Given the description of an element on the screen output the (x, y) to click on. 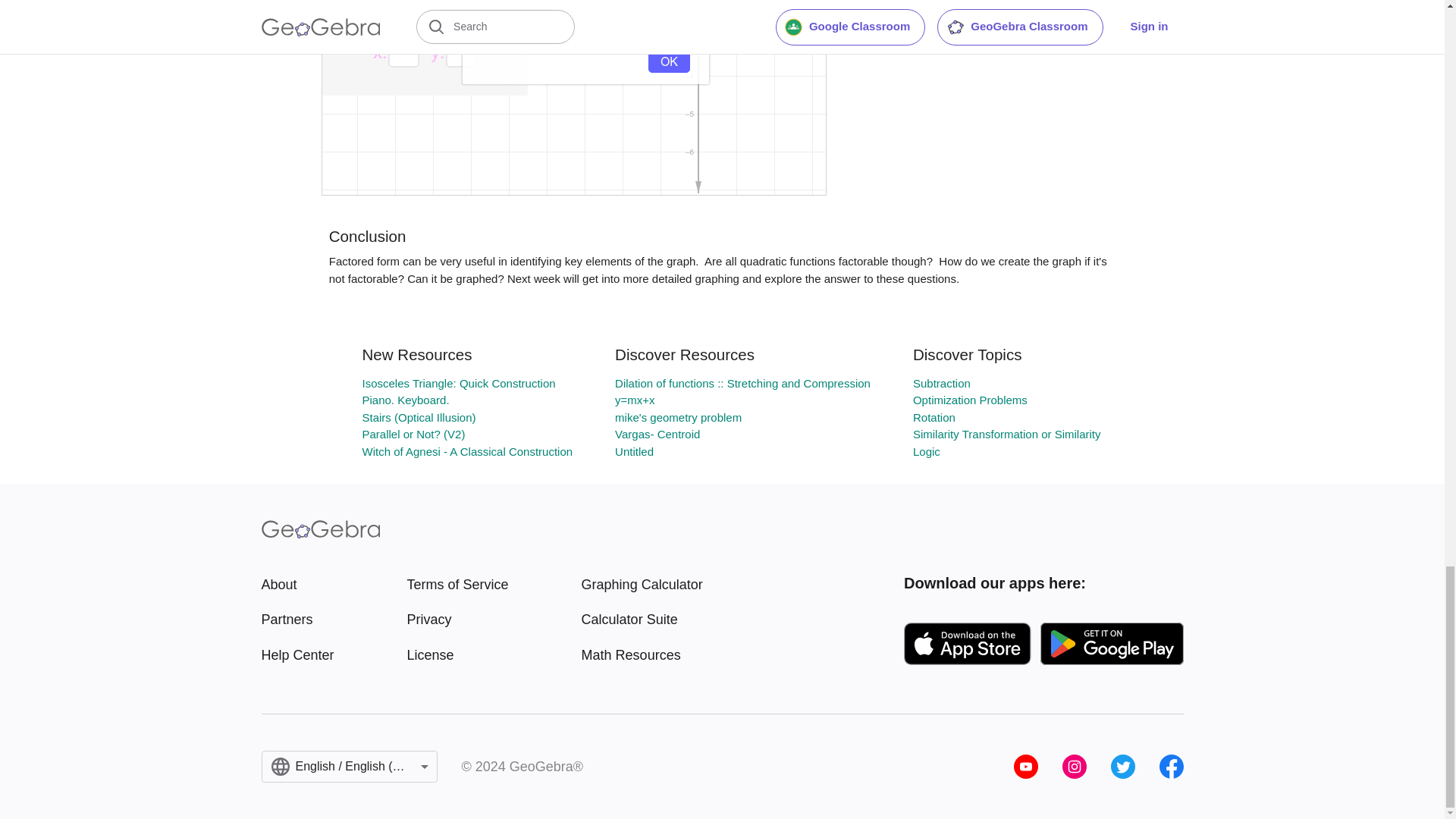
Rotation (933, 417)
Facebook (1170, 766)
About (296, 584)
Partners (296, 619)
Witch of Agnesi - A Classical Construction (466, 451)
Similarity Transformation or Similarity (1006, 433)
Language Switcher Dropdown (348, 766)
Twitter (1121, 766)
Instagram (1073, 766)
Isosceles Triangle: Quick Construction (457, 382)
Logic (926, 451)
Vargas- Centroid (657, 433)
mike's geometry problem (677, 417)
Dilation of functions :: Stretching and Compression (742, 382)
Piano. Keyboard. (404, 399)
